Given the description of an element on the screen output the (x, y) to click on. 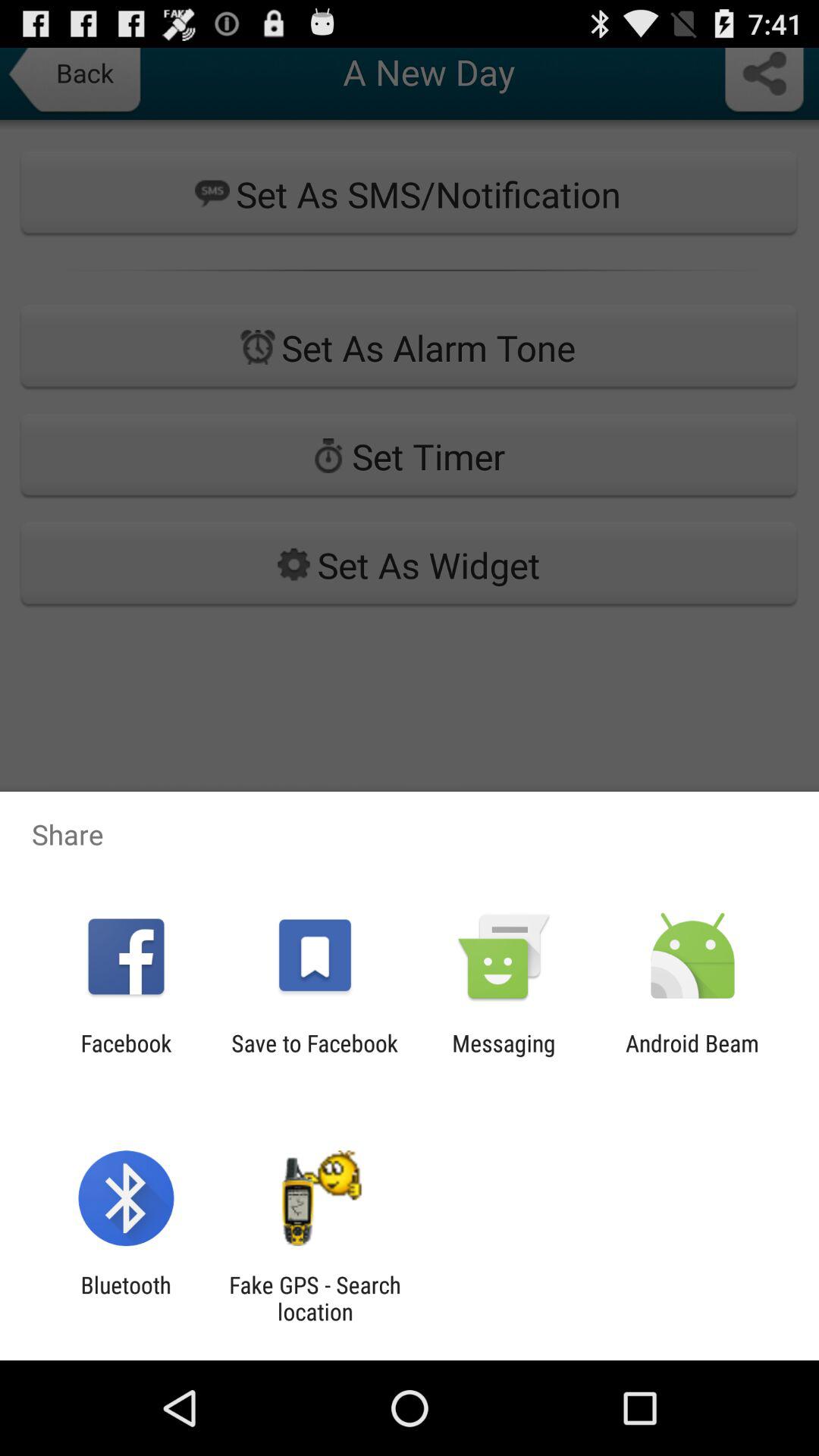
turn on the icon to the right of bluetooth icon (314, 1298)
